Given the description of an element on the screen output the (x, y) to click on. 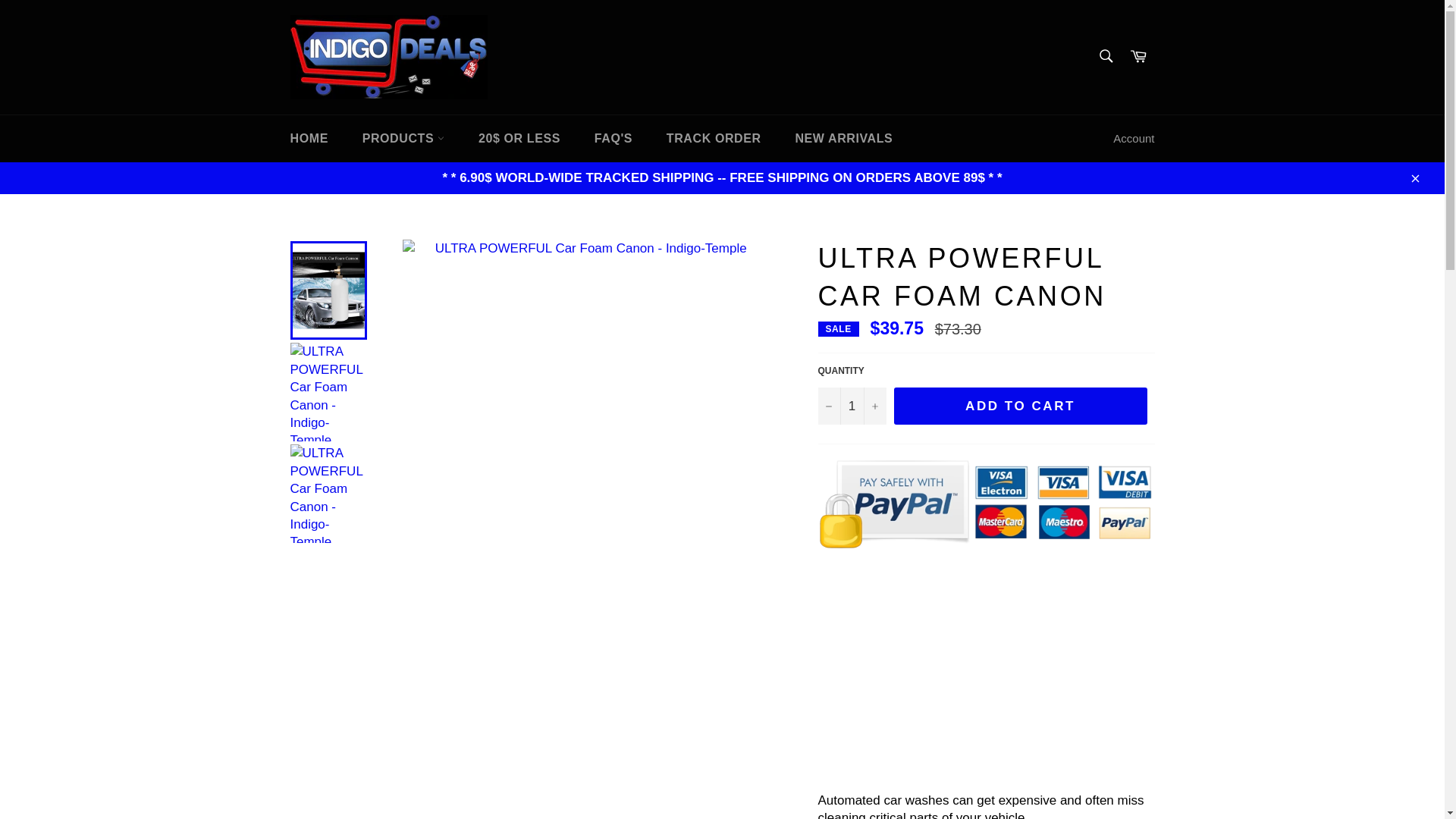
HOME (308, 138)
1 (850, 406)
Cart (1138, 57)
PRODUCTS (403, 138)
Search (1104, 56)
